Given the description of an element on the screen output the (x, y) to click on. 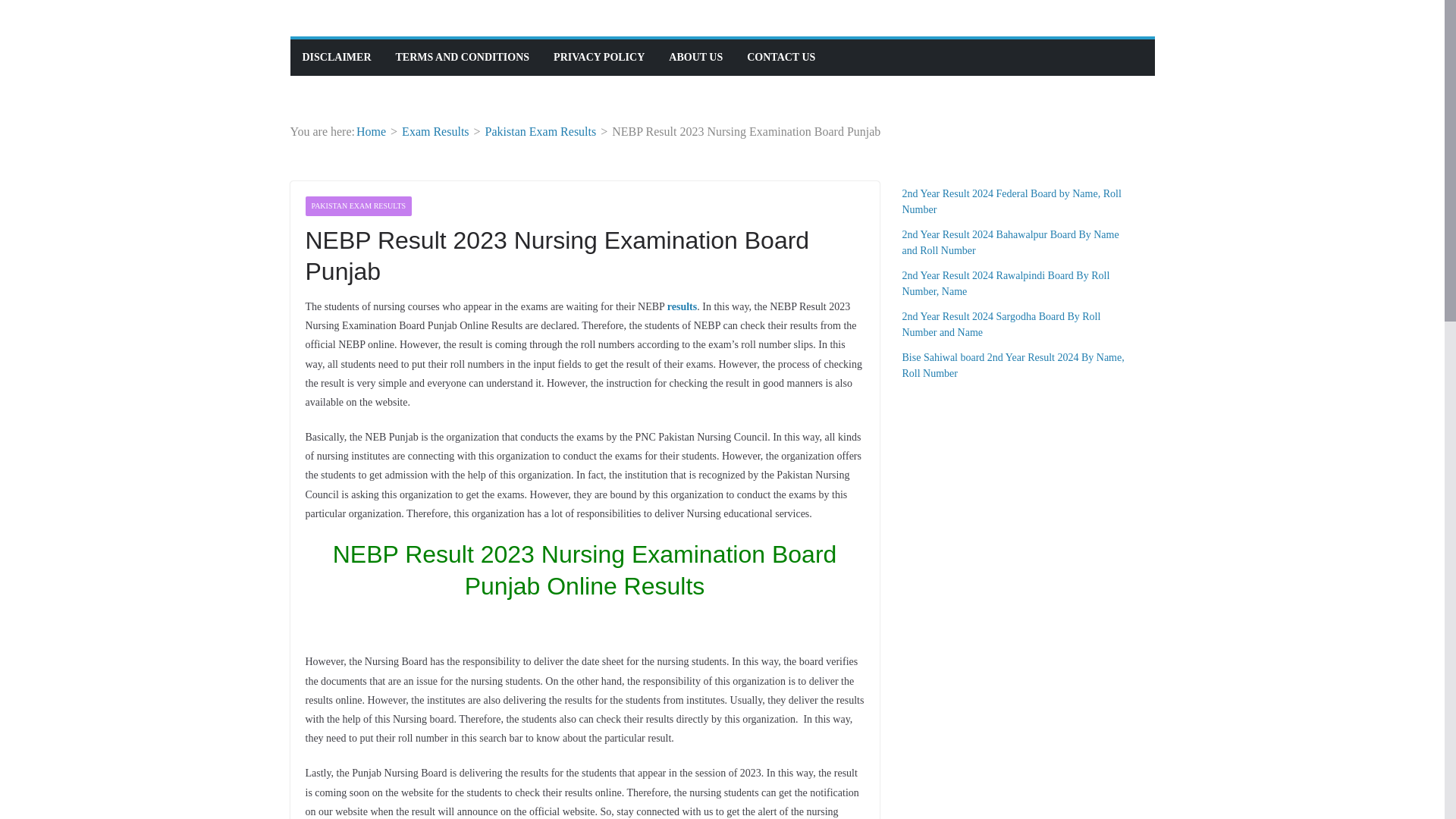
Exam Results (434, 131)
DISCLAIMER (336, 56)
results (681, 306)
ABOUT US (695, 56)
2nd Year Result 2024 Rawalpindi Board By Roll Number, Name (1005, 283)
Home (370, 131)
2nd Year Result 2024 Sargodha Board By Roll Number and Name (1001, 324)
TERMS AND CONDITIONS (462, 56)
Bise Sahiwal board 2nd Year Result 2024 By Name, Roll Number (1013, 365)
